Given the description of an element on the screen output the (x, y) to click on. 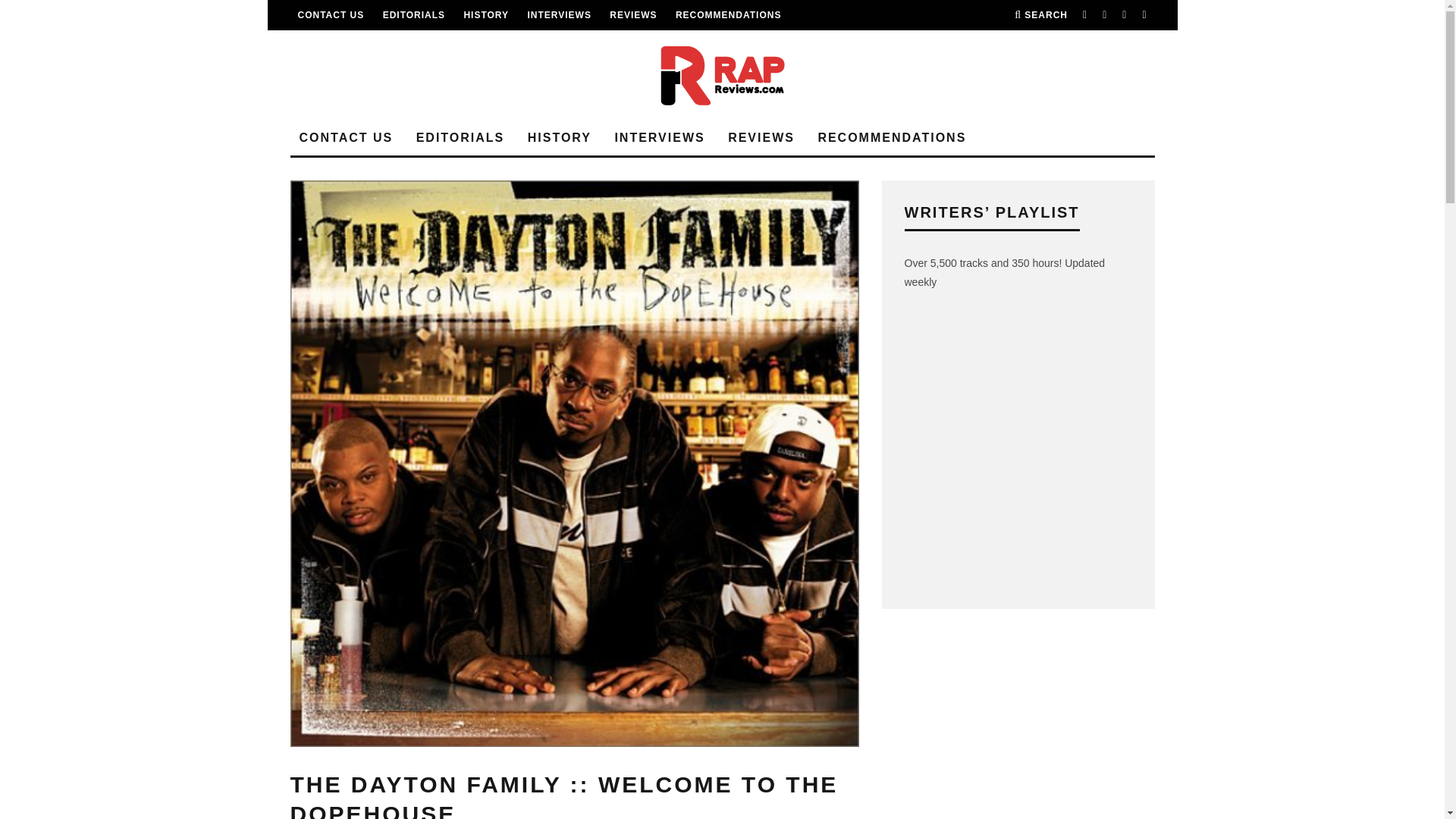
HISTORY (485, 15)
REVIEWS (633, 15)
CONTACT US (330, 15)
SEARCH (1040, 15)
Search (1040, 15)
EDITORIALS (413, 15)
INTERVIEWS (559, 15)
RECOMMENDATIONS (727, 15)
